Given the description of an element on the screen output the (x, y) to click on. 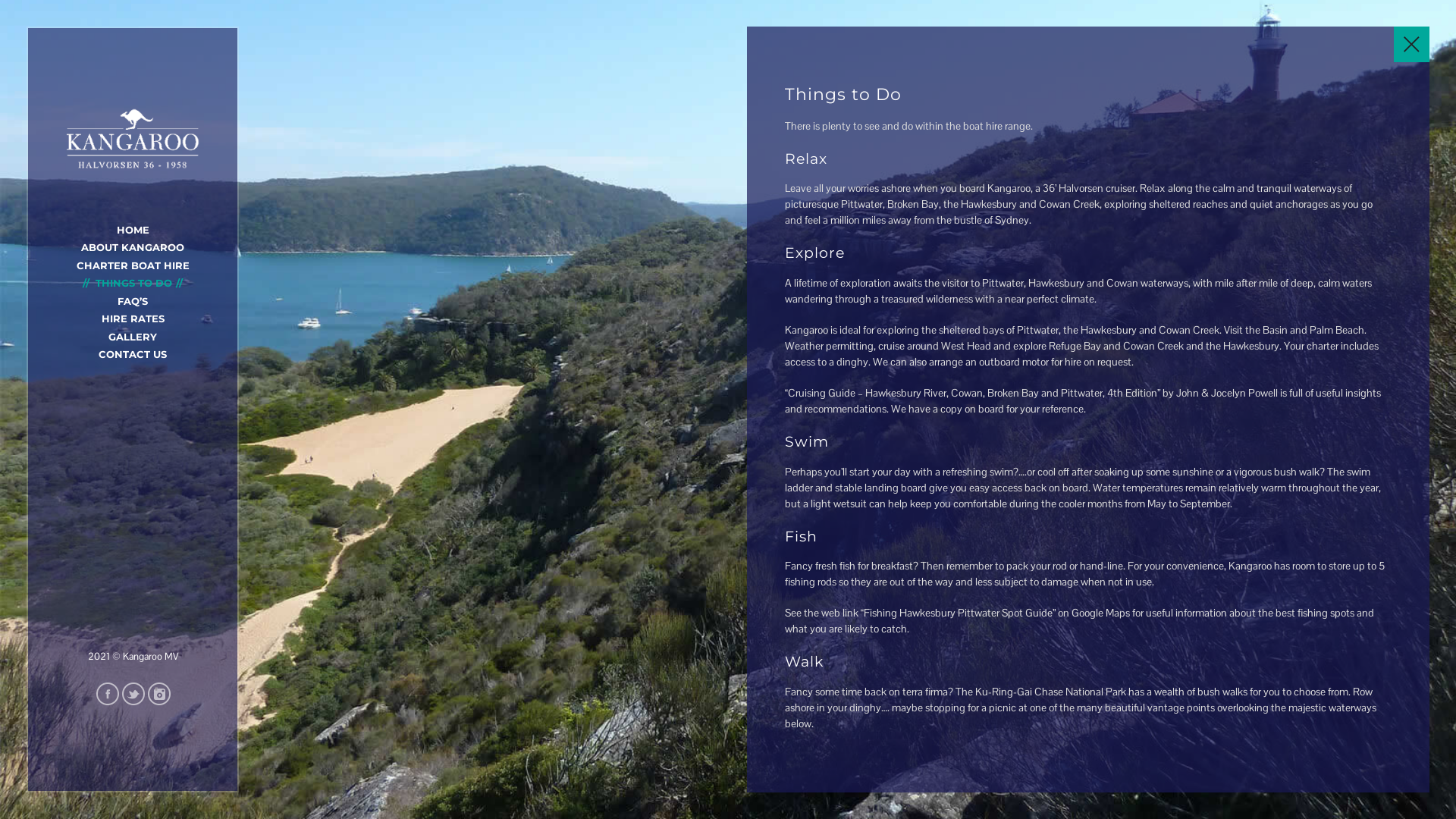
THINGS TO DO Element type: text (132, 282)
HOME Element type: text (132, 229)
CONTACT US Element type: text (132, 354)
Flickr Element type: hover (158, 693)
Twitter Element type: hover (133, 693)
ABOUT KANGAROO Element type: text (132, 247)
GALLERY Element type: text (132, 336)
CHARTER BOAT HIRE Element type: text (131, 265)
Facebook Element type: hover (107, 693)
HIRE RATES Element type: text (132, 318)
MV Kangaroo Element type: hover (132, 138)
